Given the description of an element on the screen output the (x, y) to click on. 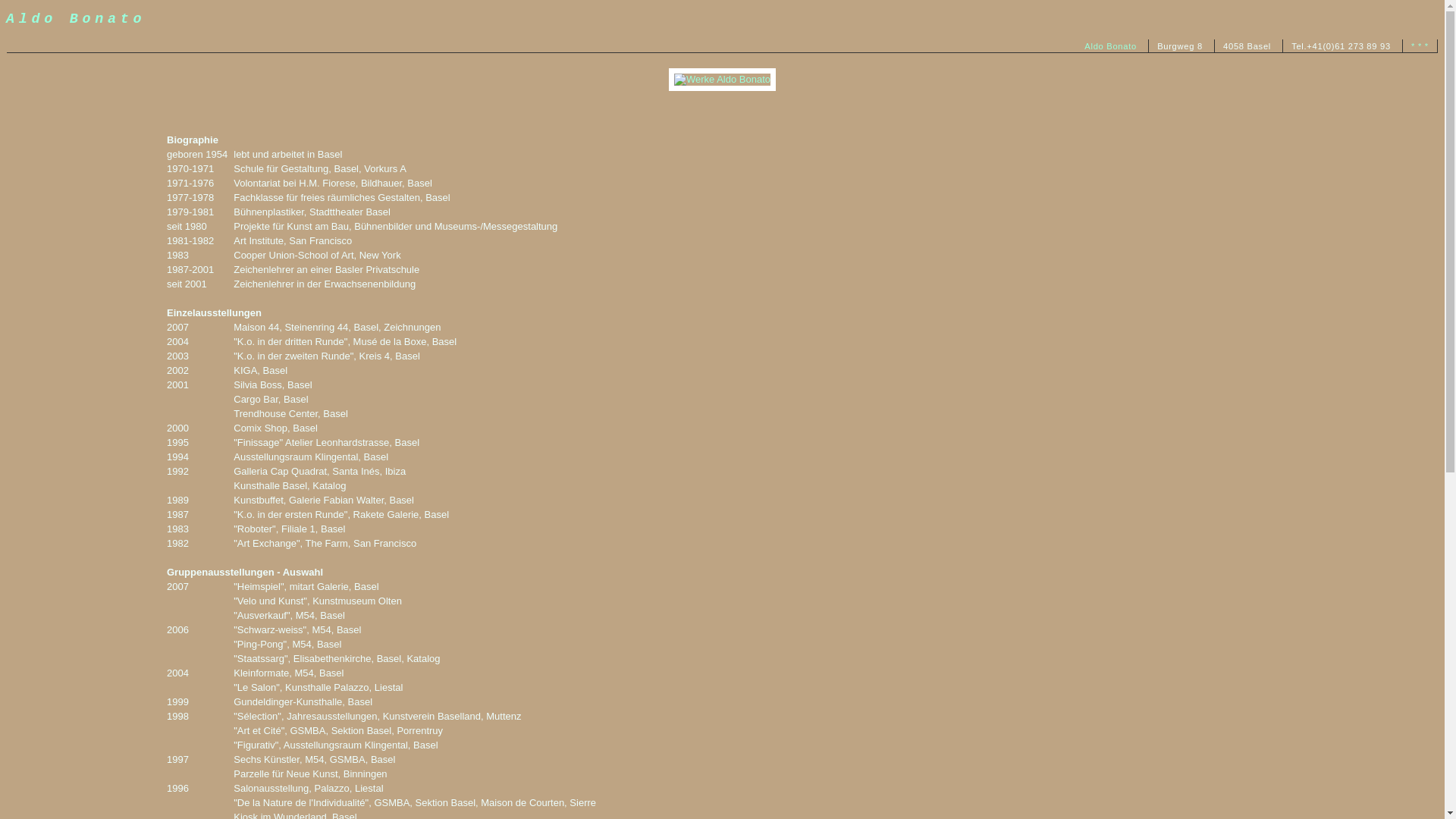
* Element type: text (1419, 45)
Aldo Bonato Element type: text (75, 19)
* Element type: text (1426, 45)
* Element type: text (1413, 45)
Aldo Bonato Element type: text (1110, 45)
